Given the description of an element on the screen output the (x, y) to click on. 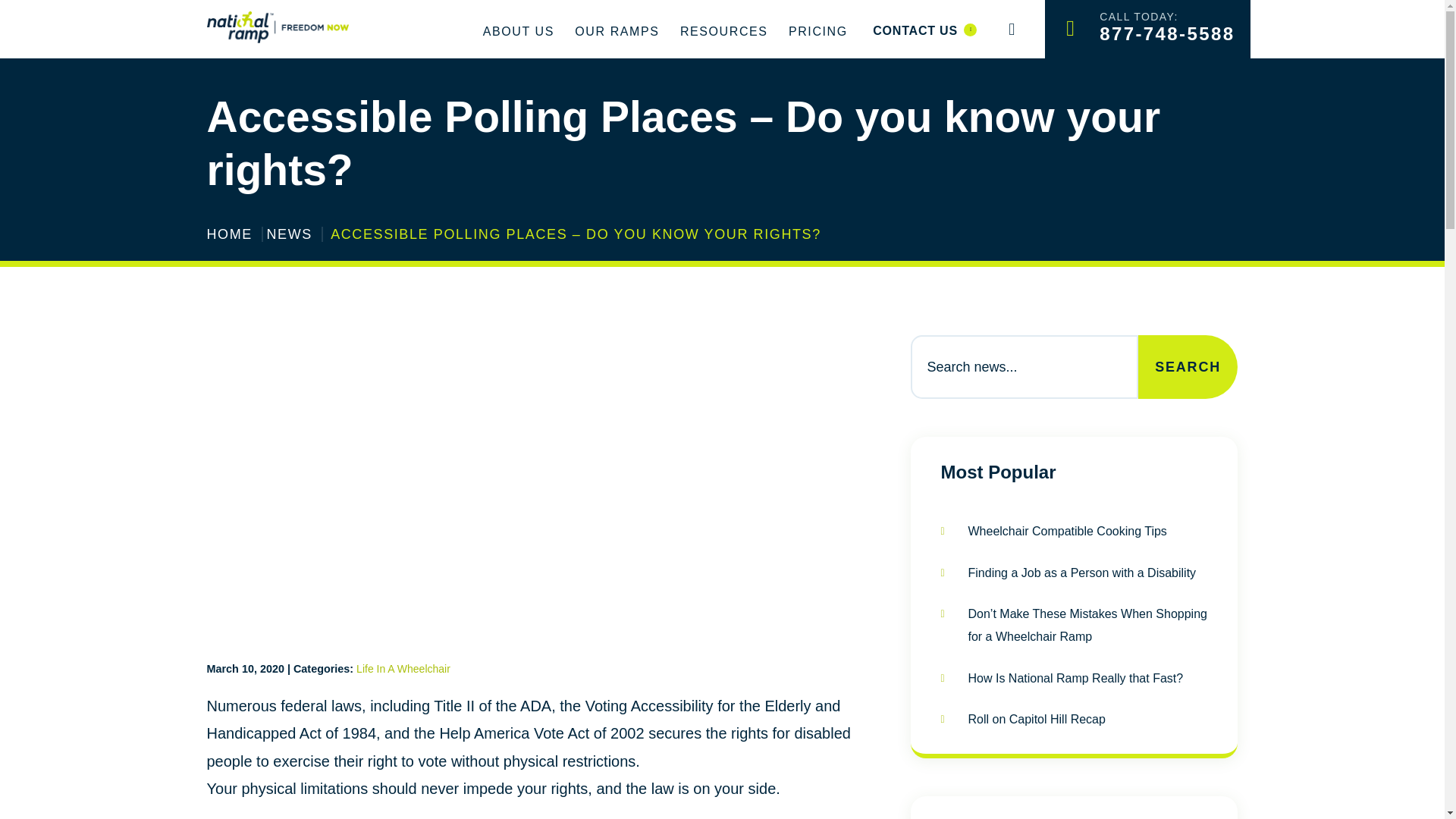
CONTACT US (1147, 29)
RESOURCES (924, 30)
ABOUT US (723, 31)
OUR RAMPS (518, 31)
